Given the description of an element on the screen output the (x, y) to click on. 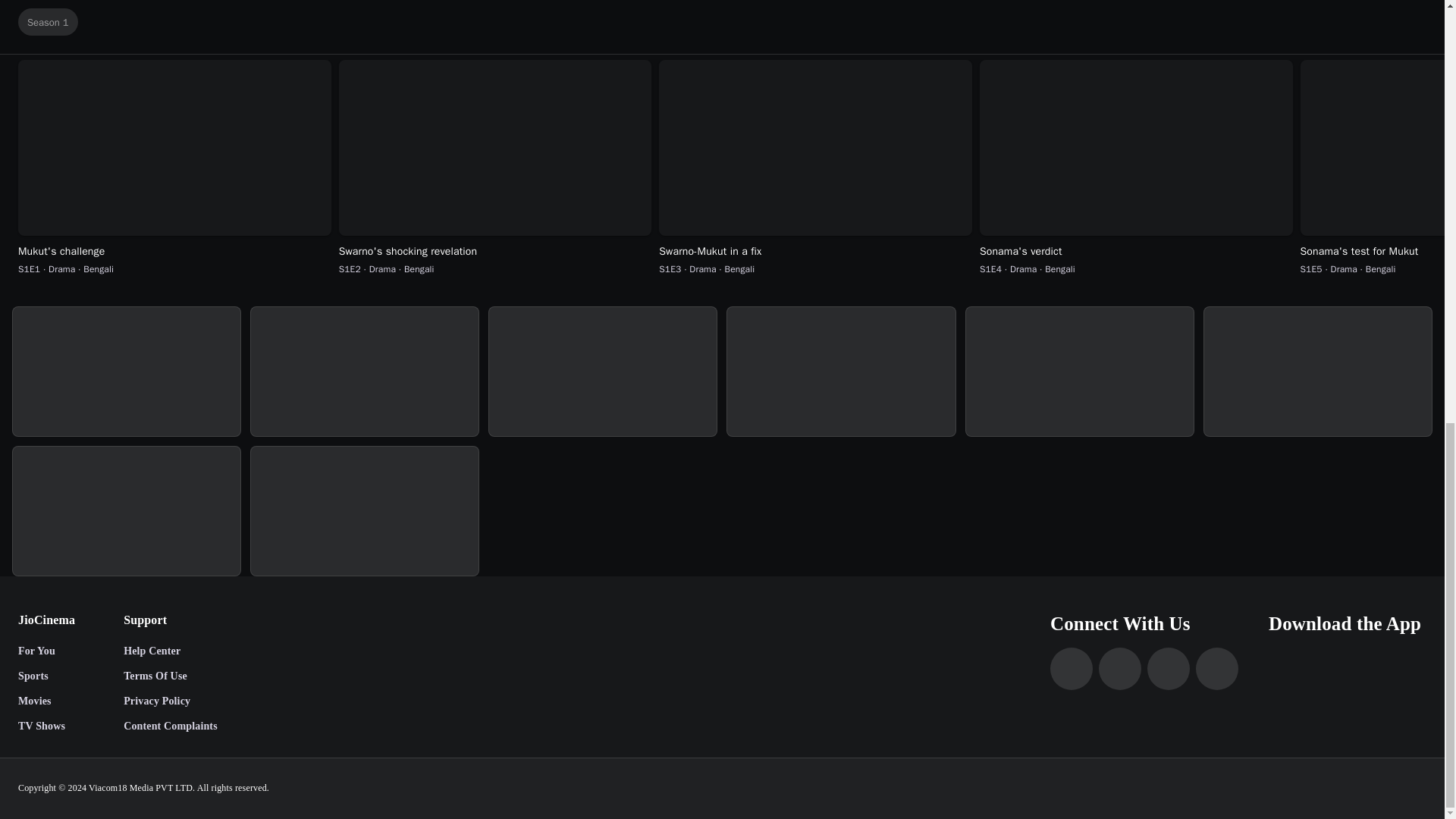
Season 1 (47, 22)
Swarno-Mukut in a fix (815, 251)
Swarno's shocking revelation (495, 251)
Mukut's challenge (174, 251)
Sonama's verdict (1135, 251)
Season 1 (724, 21)
Season 1 (724, 22)
